Given the description of an element on the screen output the (x, y) to click on. 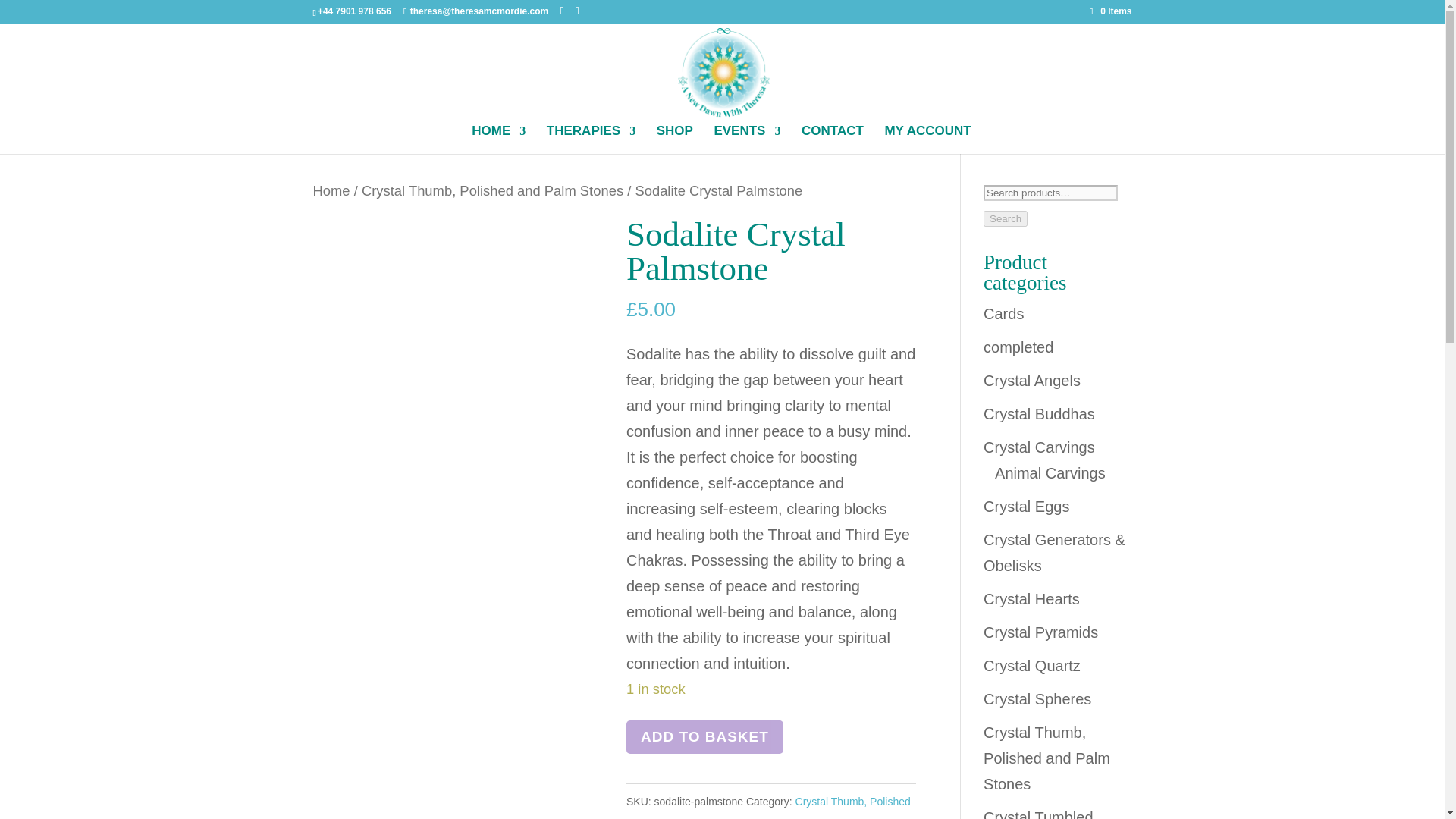
Cards (1003, 313)
MY ACCOUNT (927, 139)
Crystal Thumb, Polished and Palm Stones (768, 807)
HOME (498, 139)
SHOP (674, 139)
0 Items (1110, 10)
CONTACT (832, 139)
ADD TO BASKET (704, 736)
Search (1005, 218)
Crystal Thumb, Polished and Palm Stones (492, 190)
